Given the description of an element on the screen output the (x, y) to click on. 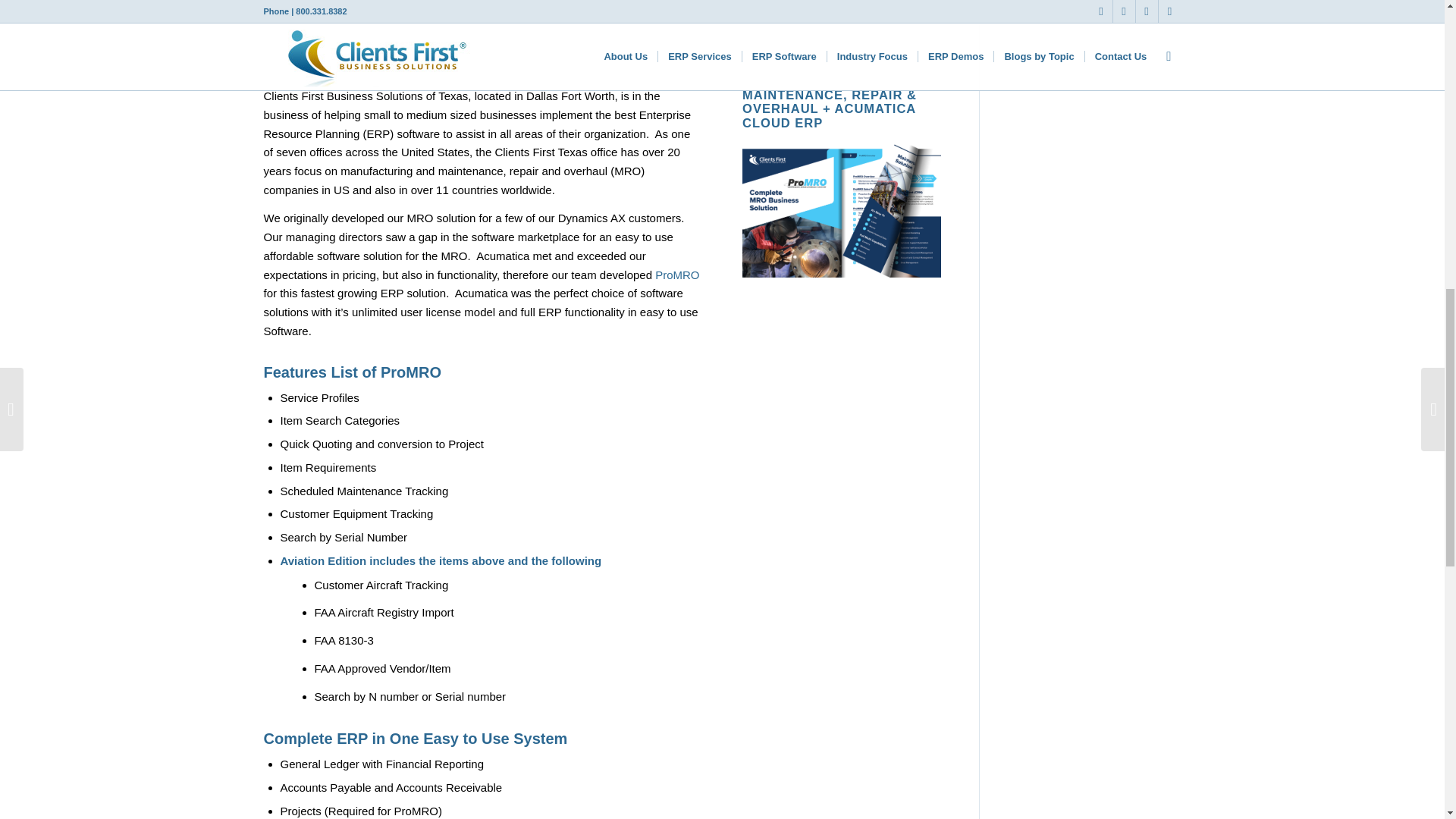
PartsBase Integration to ProMRO Video (602, 9)
